Given the description of an element on the screen output the (x, y) to click on. 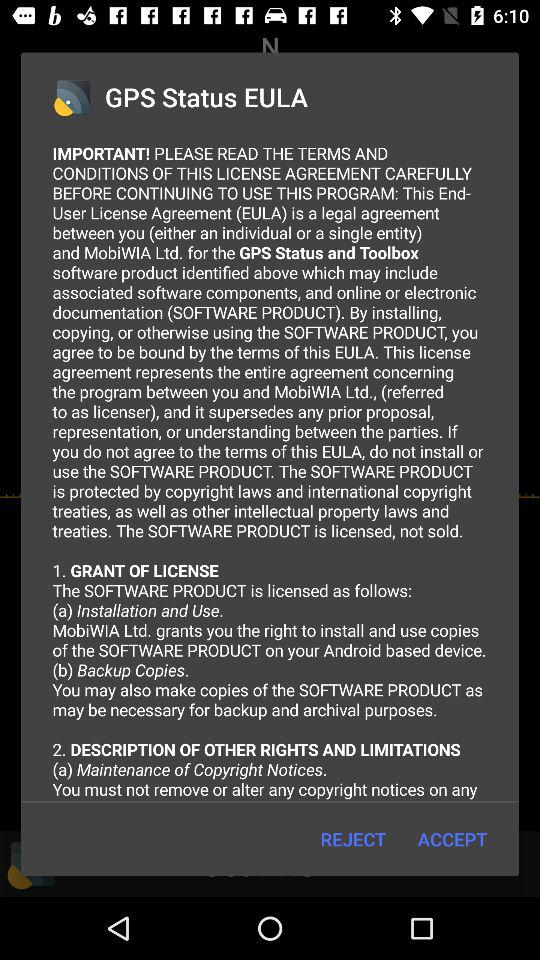
turn on the icon to the right of the reject (452, 838)
